Given the description of an element on the screen output the (x, y) to click on. 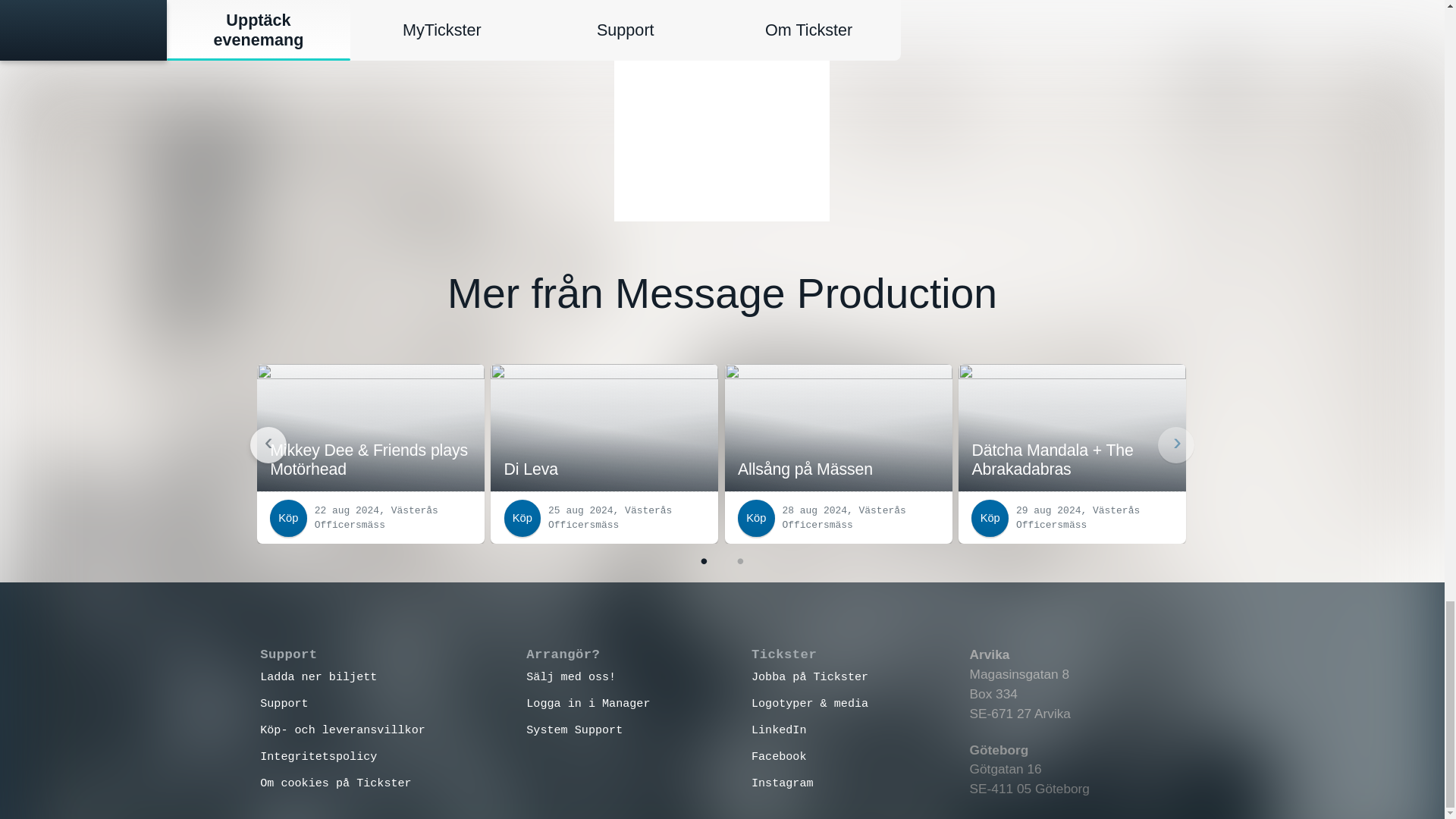
Previous (268, 444)
Facebook page (721, 110)
Di Leva (603, 427)
Next (1175, 444)
1 (703, 561)
2 (740, 561)
